Given the description of an element on the screen output the (x, y) to click on. 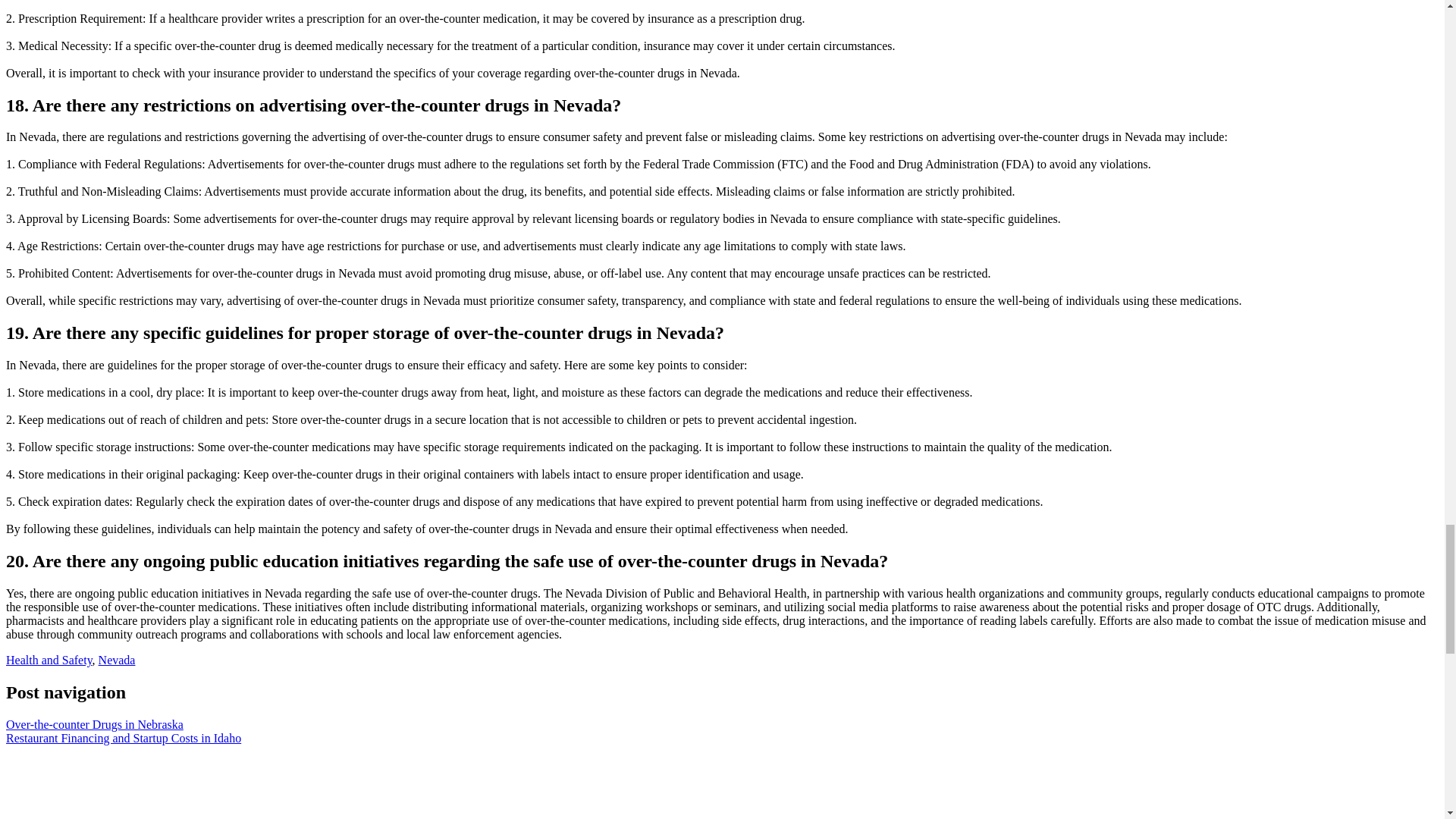
Nevada (117, 659)
Restaurant Financing and Startup Costs in Idaho (123, 738)
Health and Safety (49, 659)
Over-the-counter Drugs in Nebraska (94, 724)
